Given the description of an element on the screen output the (x, y) to click on. 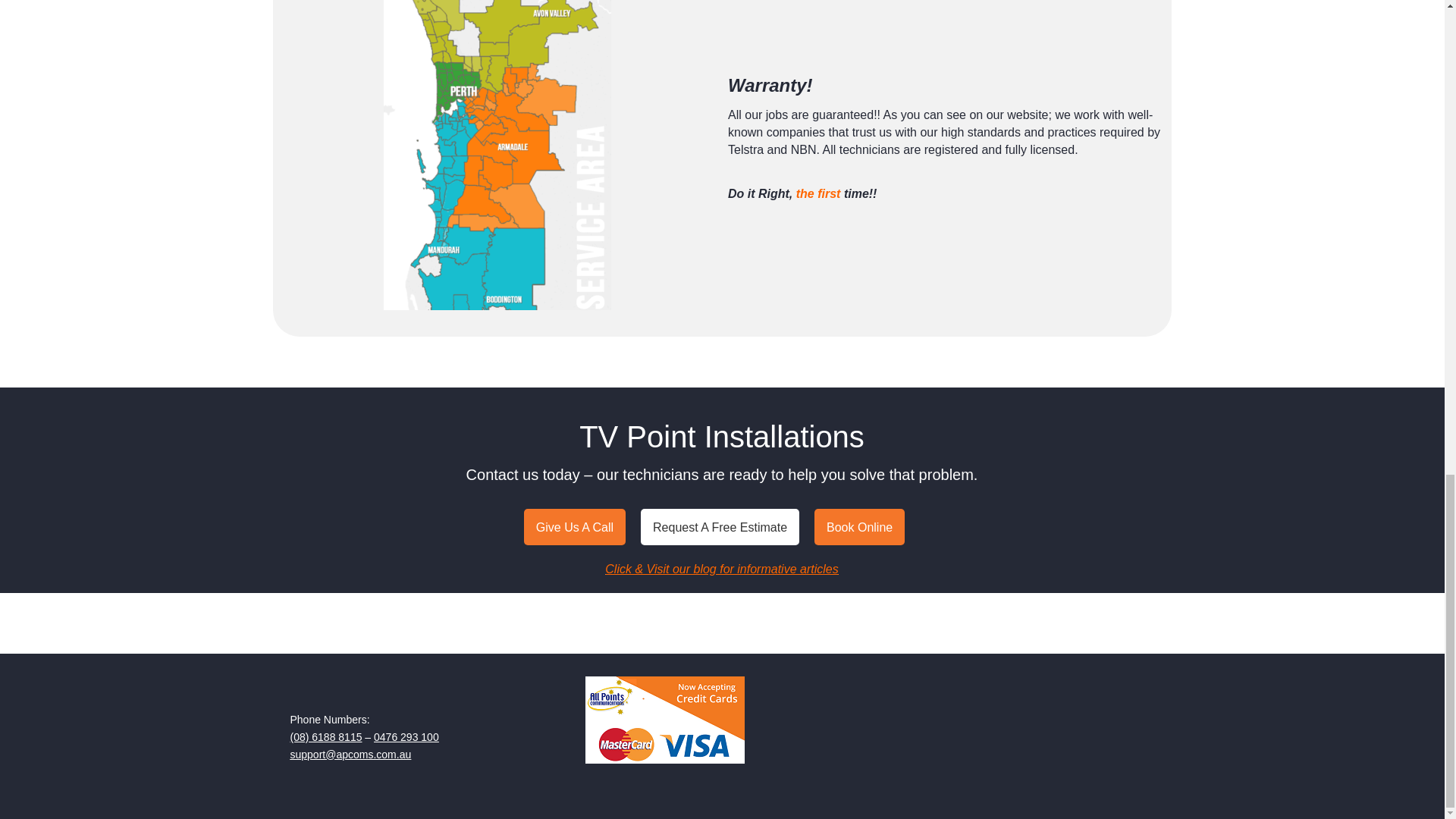
Payment with visa and mastercard credit card (664, 719)
